Given the description of an element on the screen output the (x, y) to click on. 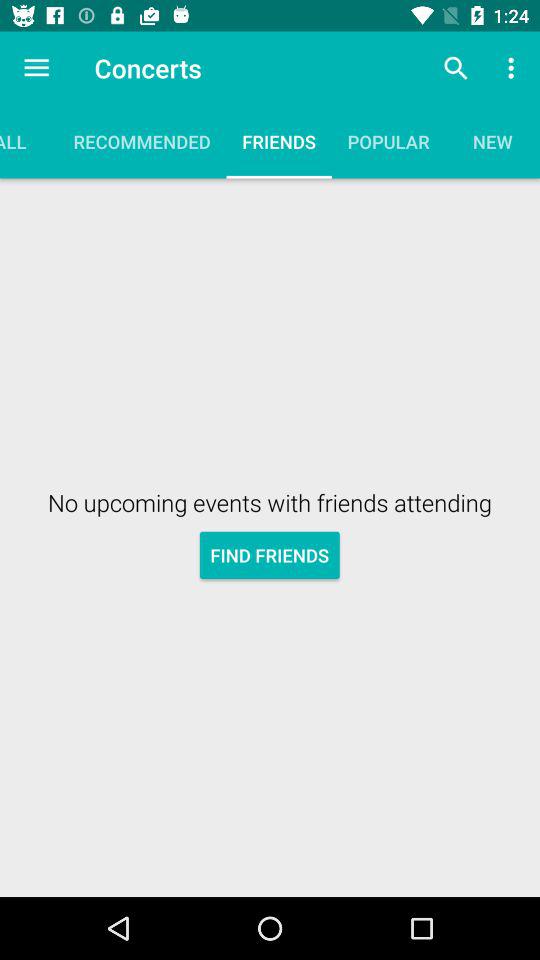
press icon above popular (455, 67)
